Given the description of an element on the screen output the (x, y) to click on. 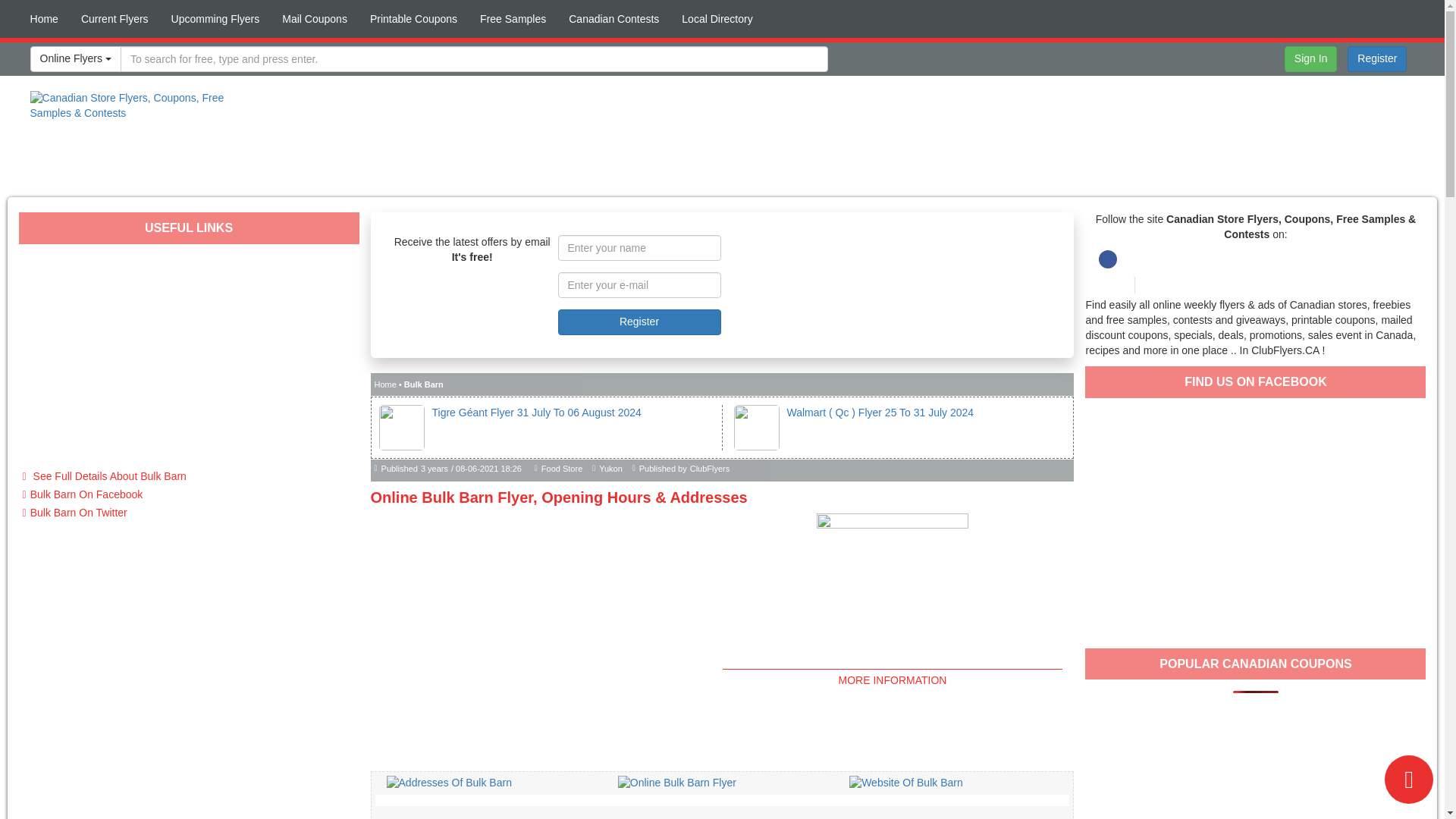
Upcomming Flyers (215, 18)
Full Details About Bulk Barn (188, 476)
See Full Details About Bulk Barn (188, 476)
Bulk Barn On Twitter (188, 513)
Current Flyers (114, 18)
Online Flyers (75, 58)
Bulk Barn On Facebook (188, 495)
Home (385, 384)
Follow Bulk Barn On Twitter (188, 513)
Sign In (1311, 58)
Register (1377, 58)
Printable Coupons (413, 18)
Food Store (561, 469)
Register (638, 321)
Canadian Contests (613, 18)
